Given the description of an element on the screen output the (x, y) to click on. 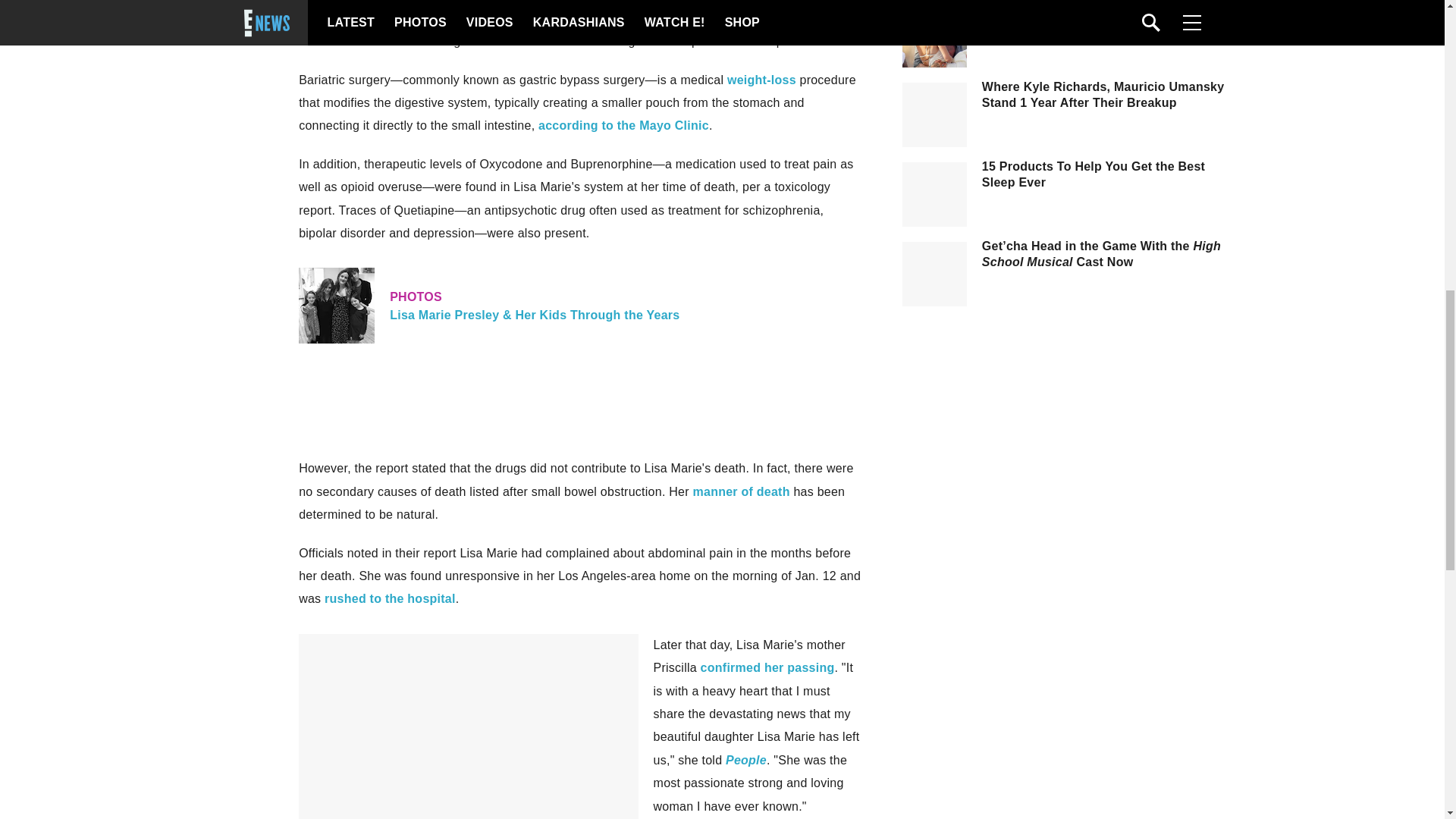
NBC News (760, 18)
according to the Mayo Clinic (623, 124)
confirmed her passing (767, 667)
People (746, 759)
manner of death (741, 491)
weight-loss (761, 79)
rushed to the hospital (389, 598)
